Given the description of an element on the screen output the (x, y) to click on. 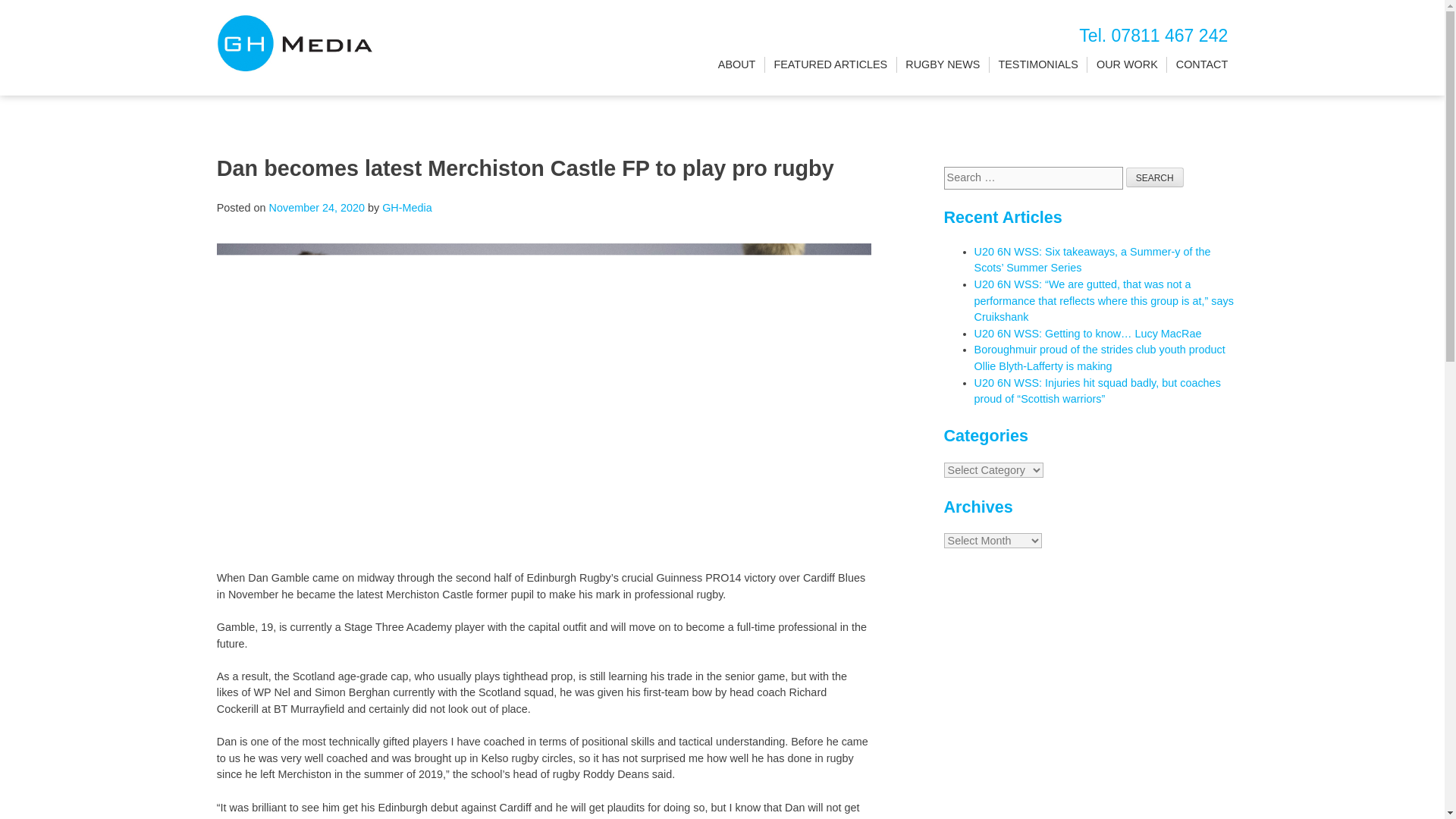
FEATURED ARTICLES (829, 64)
Search (1154, 177)
GH-Media (406, 207)
ABOUT (736, 64)
Search (1154, 177)
RUGBY NEWS (942, 64)
November 24, 2020 (317, 207)
OUR WORK (1126, 64)
TESTIMONIALS (1037, 64)
CONTACT (1201, 64)
Search (1154, 177)
